Given the description of an element on the screen output the (x, y) to click on. 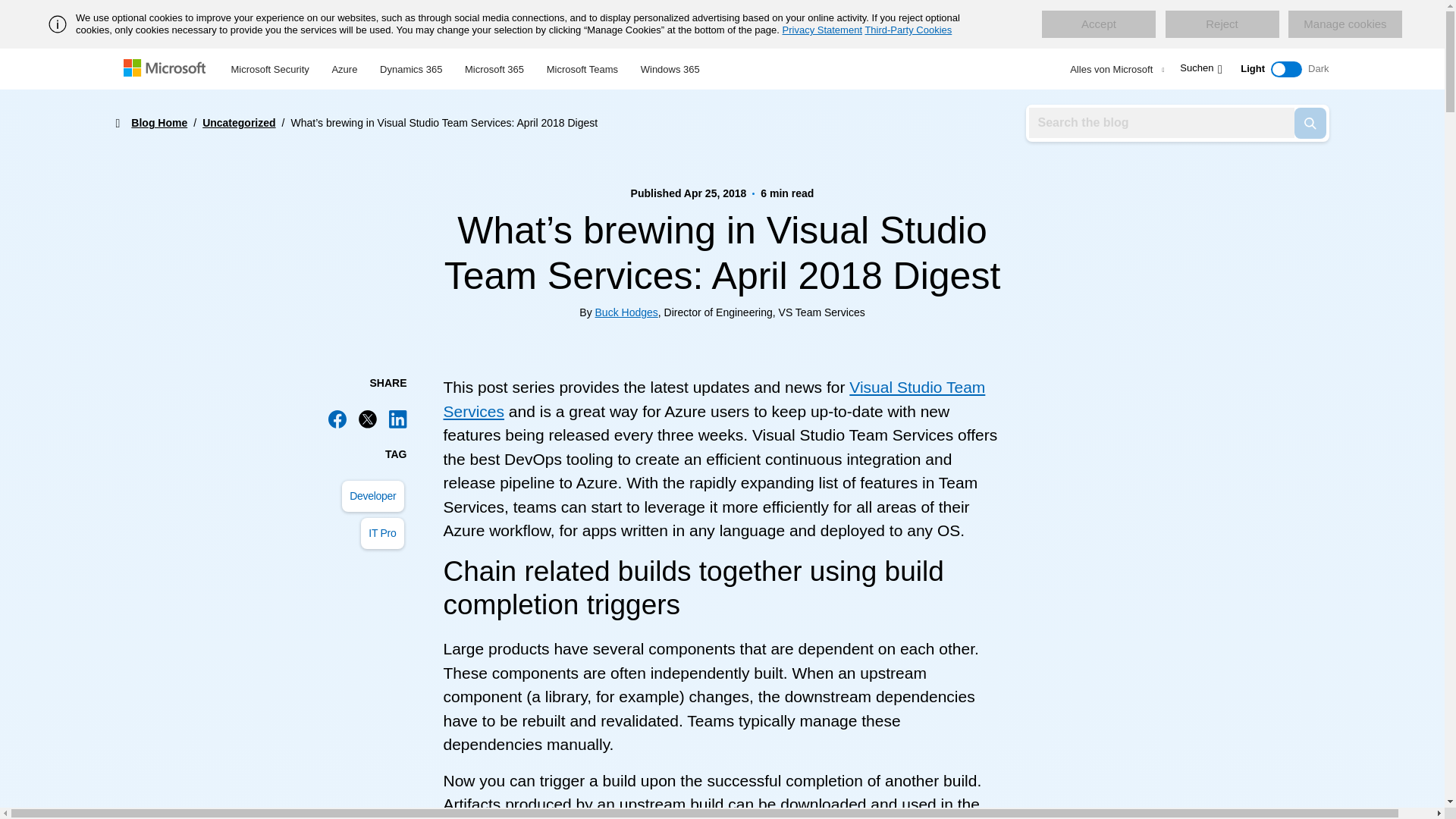
Privacy Statement (823, 30)
Microsoft 365 (494, 67)
Azure (344, 67)
Reject (1221, 23)
Windows 365 (669, 67)
Manage cookies (1345, 23)
Microsoft Teams (582, 67)
Third-Party Cookies (908, 30)
Alles von Microsoft (1115, 69)
Dynamics 365 (410, 67)
